Given the description of an element on the screen output the (x, y) to click on. 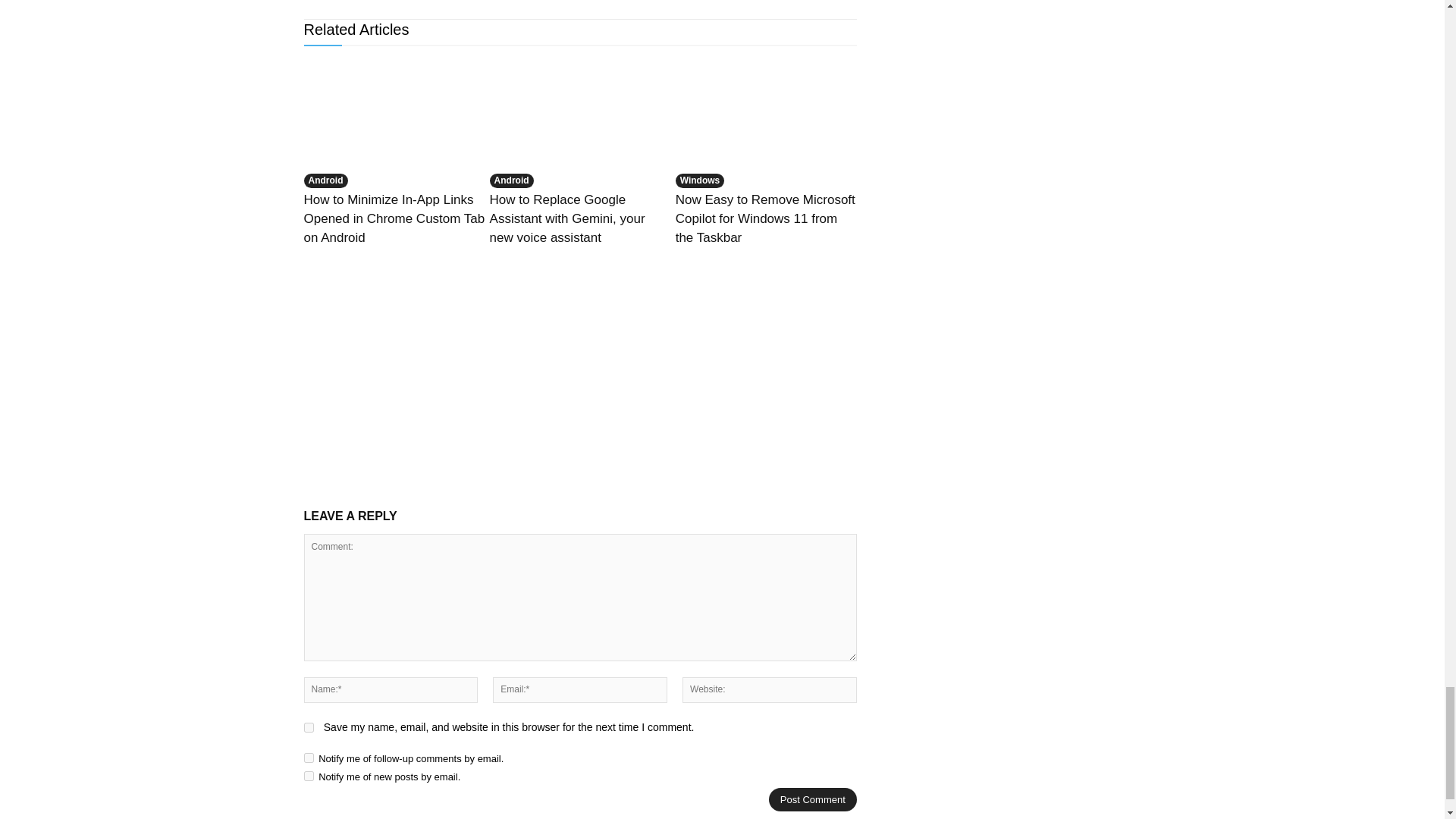
yes (307, 727)
Post Comment (812, 799)
subscribe (307, 757)
subscribe (307, 776)
